Given the description of an element on the screen output the (x, y) to click on. 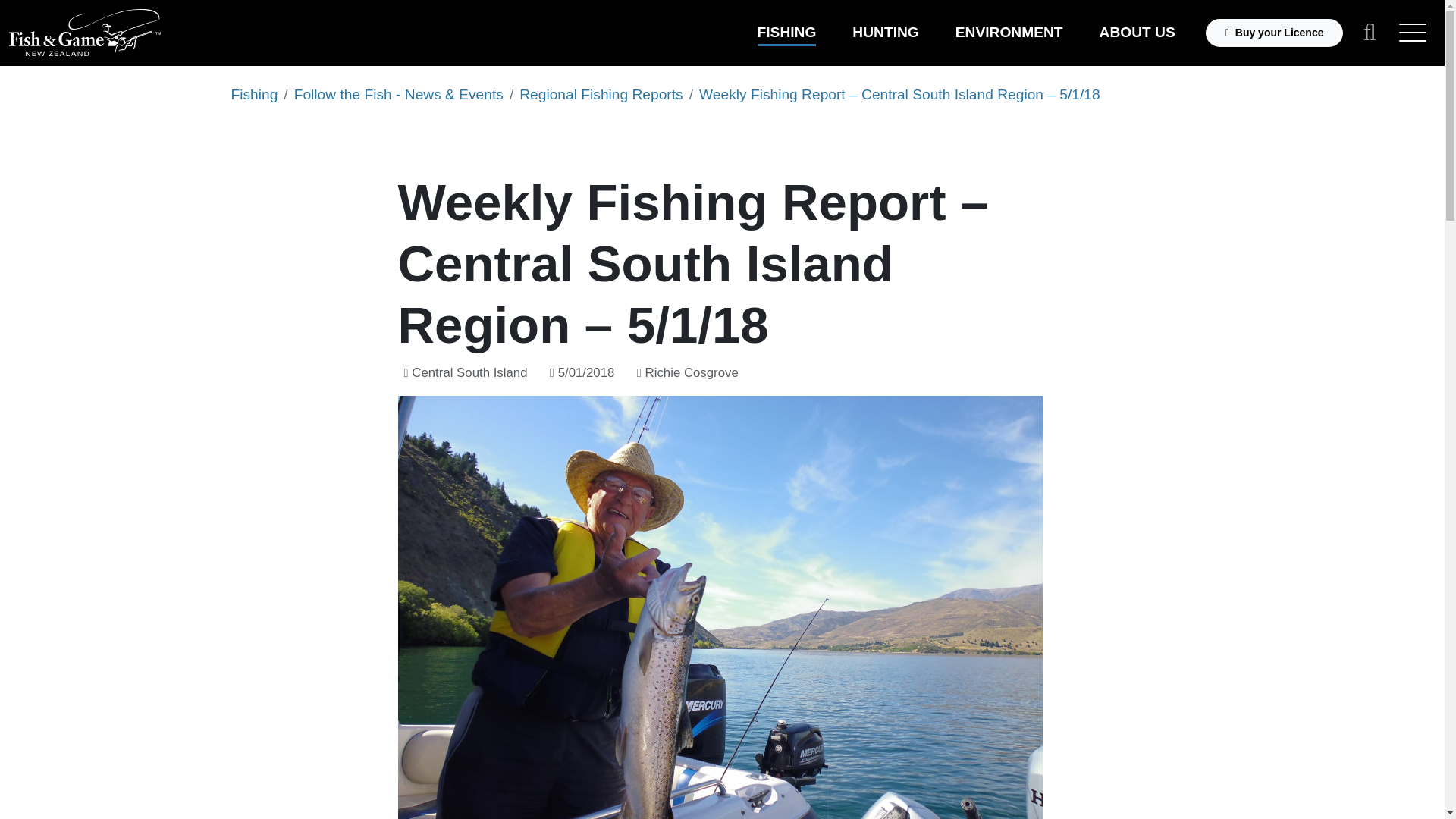
Fishing (254, 94)
ENVIRONMENT (1008, 32)
ABOUT US (1136, 32)
Buy your Licence (1274, 32)
FISHING (786, 32)
HUNTING (884, 32)
Regional Fishing Reports (600, 94)
